Given the description of an element on the screen output the (x, y) to click on. 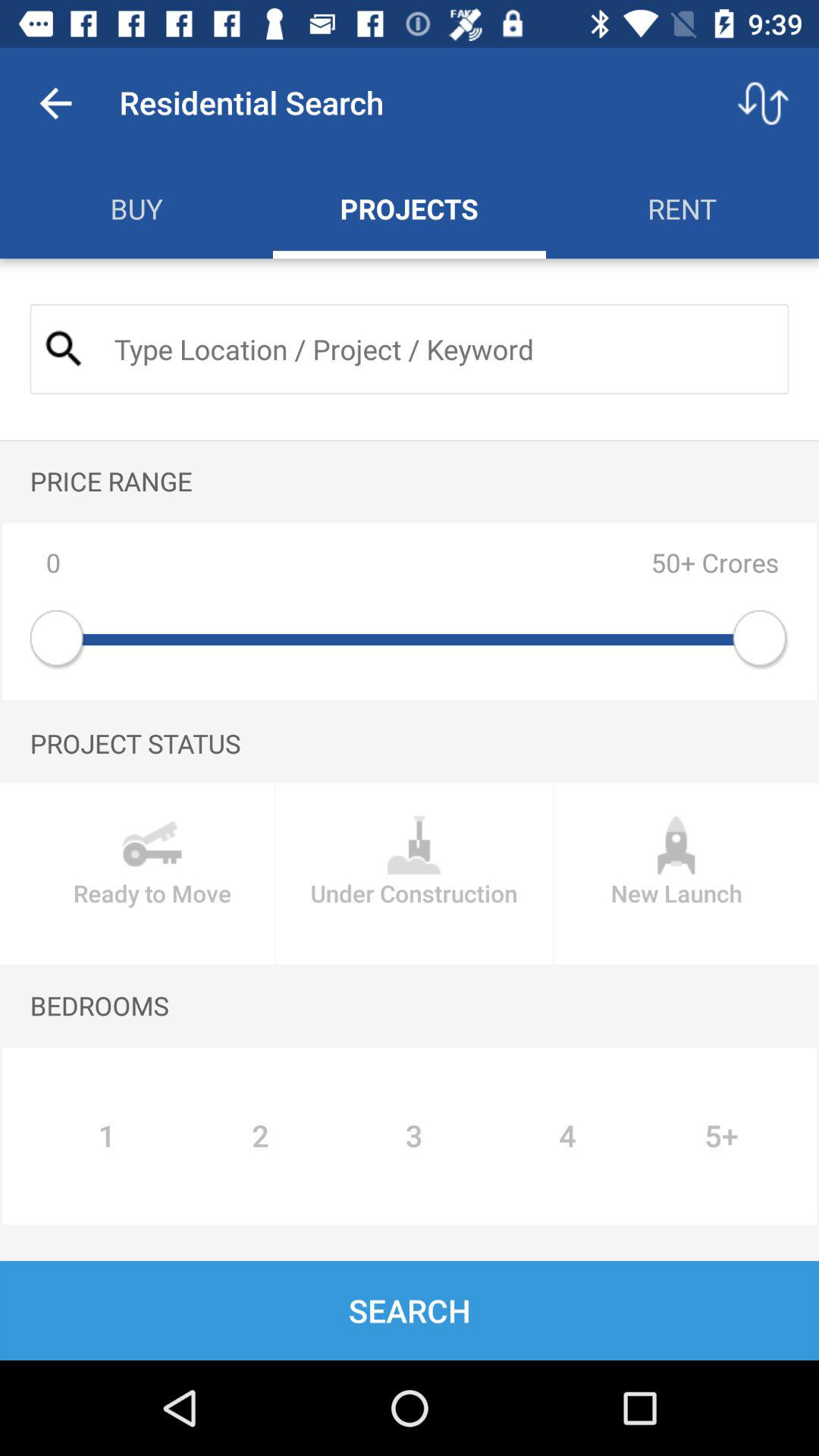
press app to the left of residential search (55, 103)
